Given the description of an element on the screen output the (x, y) to click on. 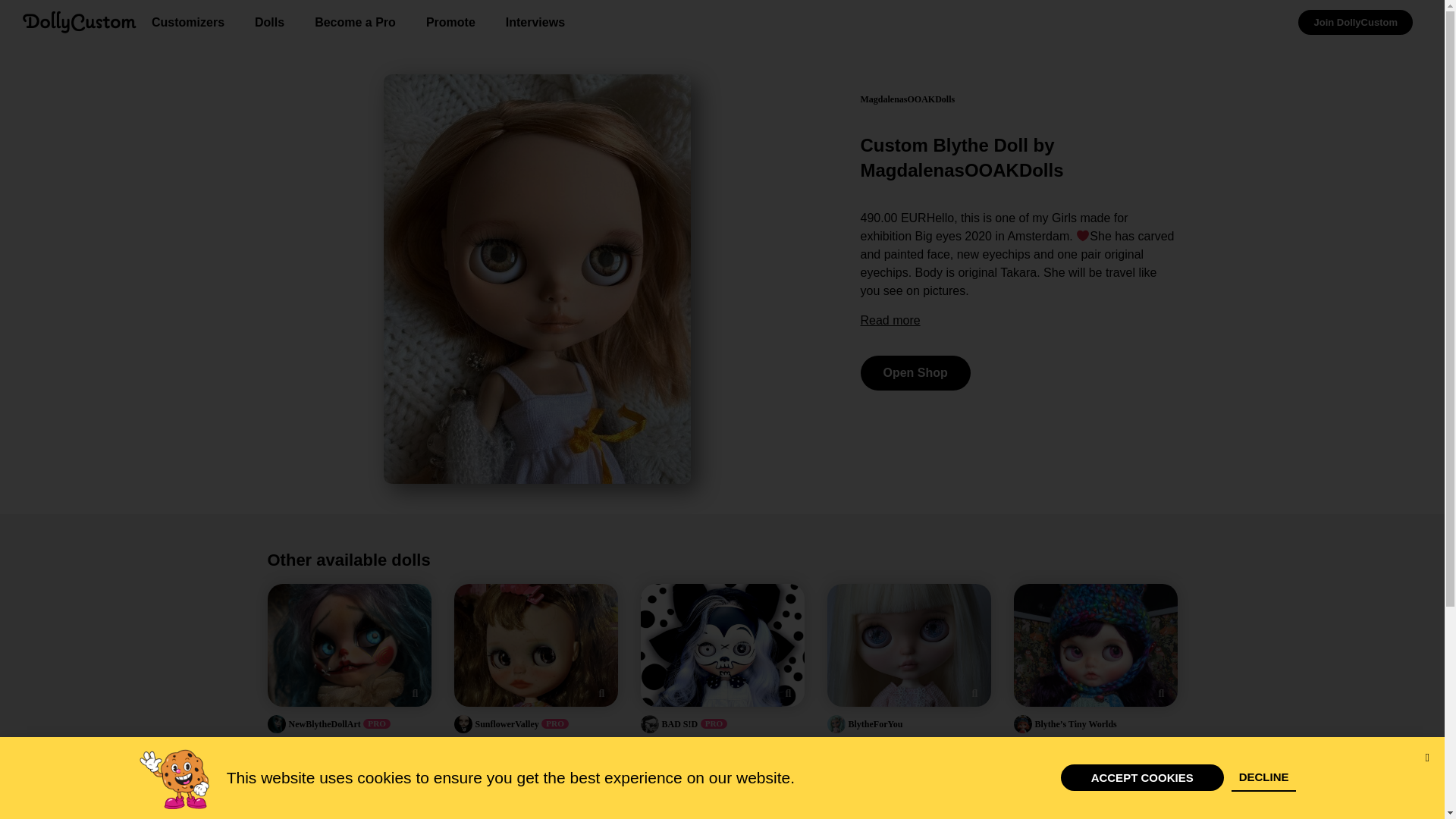
Join DollyCustom (1355, 22)
Show doll info (601, 692)
Promote (450, 21)
Show doll info (973, 692)
Show doll info (1160, 692)
Become a Pro (354, 21)
Dolls (269, 21)
Show doll info (414, 692)
Interviews (534, 21)
Show doll info (787, 692)
Customizers (188, 21)
